Given the description of an element on the screen output the (x, y) to click on. 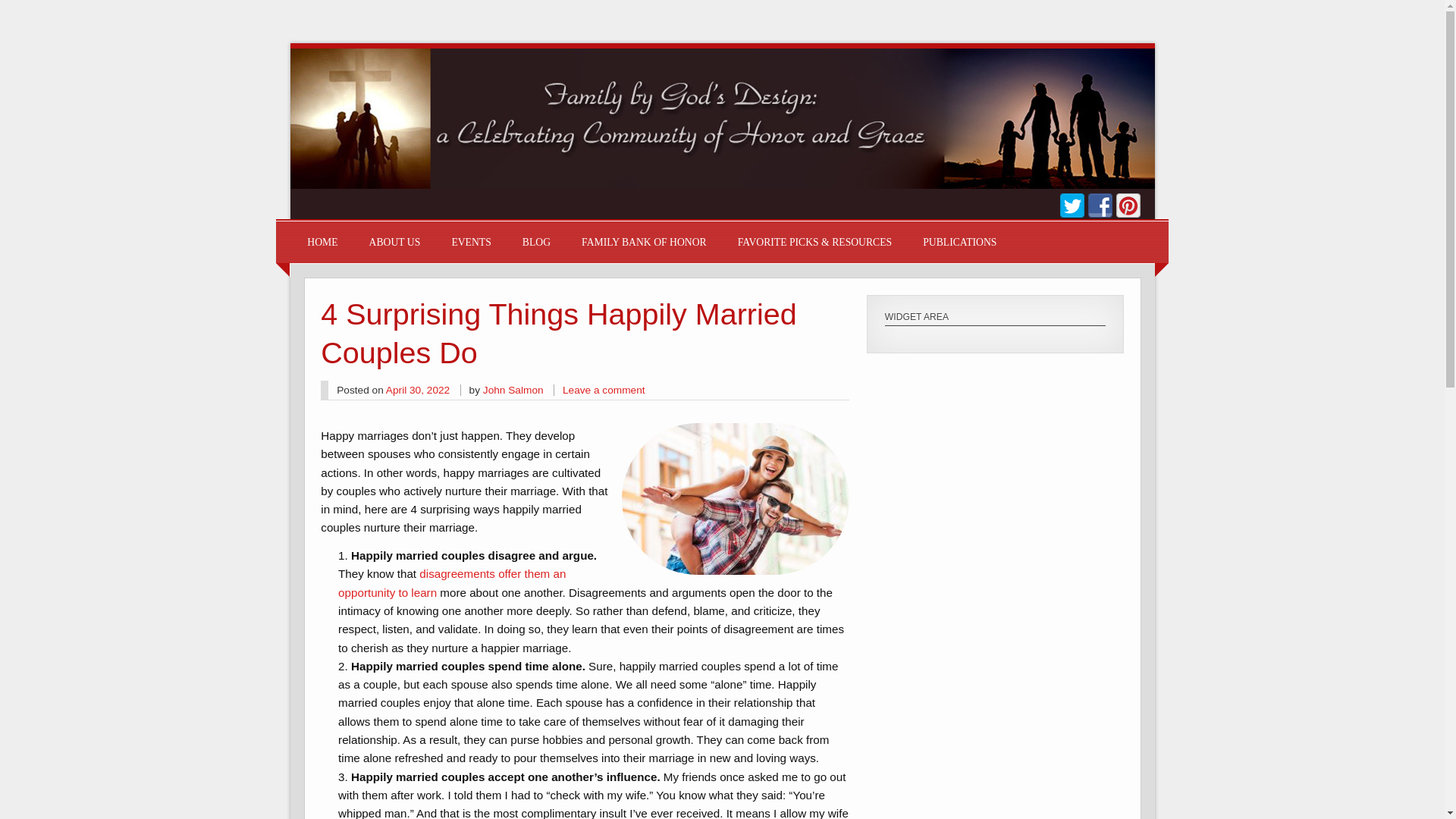
Leave a comment (603, 389)
April 30, 2022 (417, 389)
ABOUT US (394, 241)
EVENTS (470, 241)
John Salmon (513, 389)
disagreements offer them an opportunity to learn (451, 582)
Family by God's Design (721, 184)
FAMILY BANK OF HONOR (643, 241)
View all posts by John Salmon (513, 389)
PUBLICATIONS (959, 241)
